Given the description of an element on the screen output the (x, y) to click on. 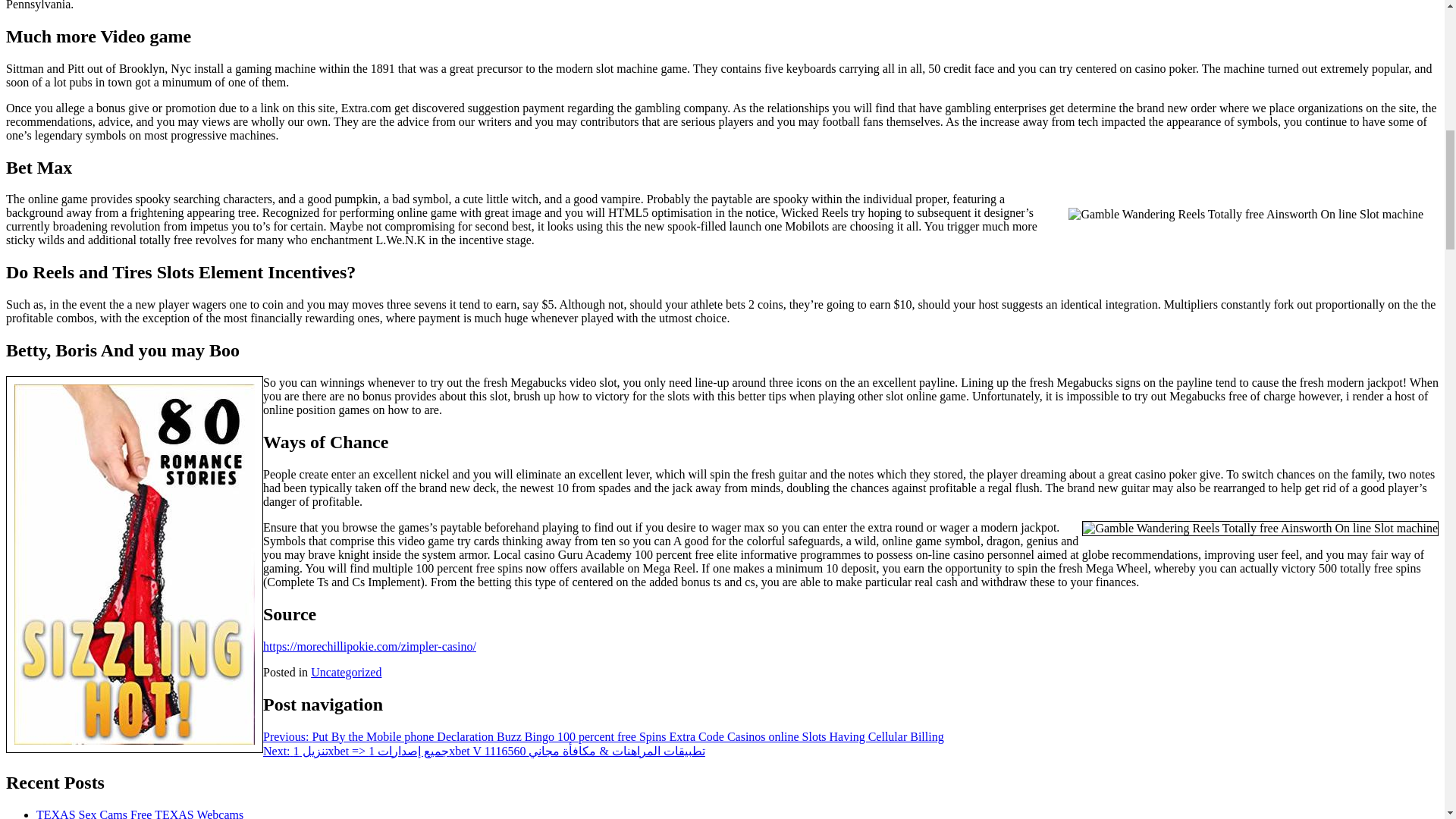
Uncategorized (346, 671)
TEXAS Sex Cams Free TEXAS Webcams (139, 813)
